Given the description of an element on the screen output the (x, y) to click on. 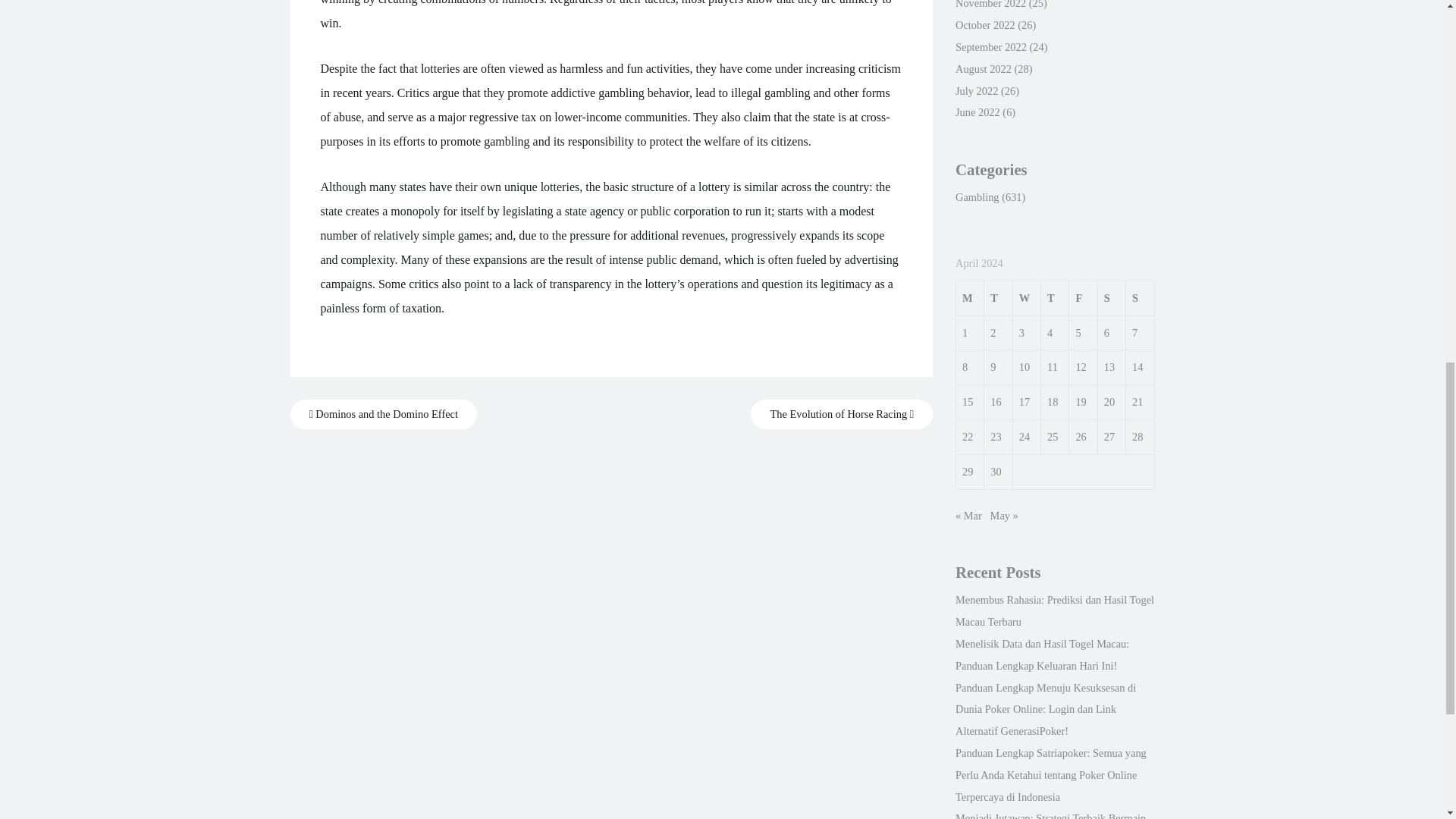
September 2022 (990, 46)
The Evolution of Horse Racing (842, 414)
November 2022 (990, 4)
Gambling (976, 196)
July 2022 (976, 91)
Dominos and the Domino Effect (382, 414)
October 2022 (984, 24)
August 2022 (983, 69)
June 2022 (977, 111)
